Given the description of an element on the screen output the (x, y) to click on. 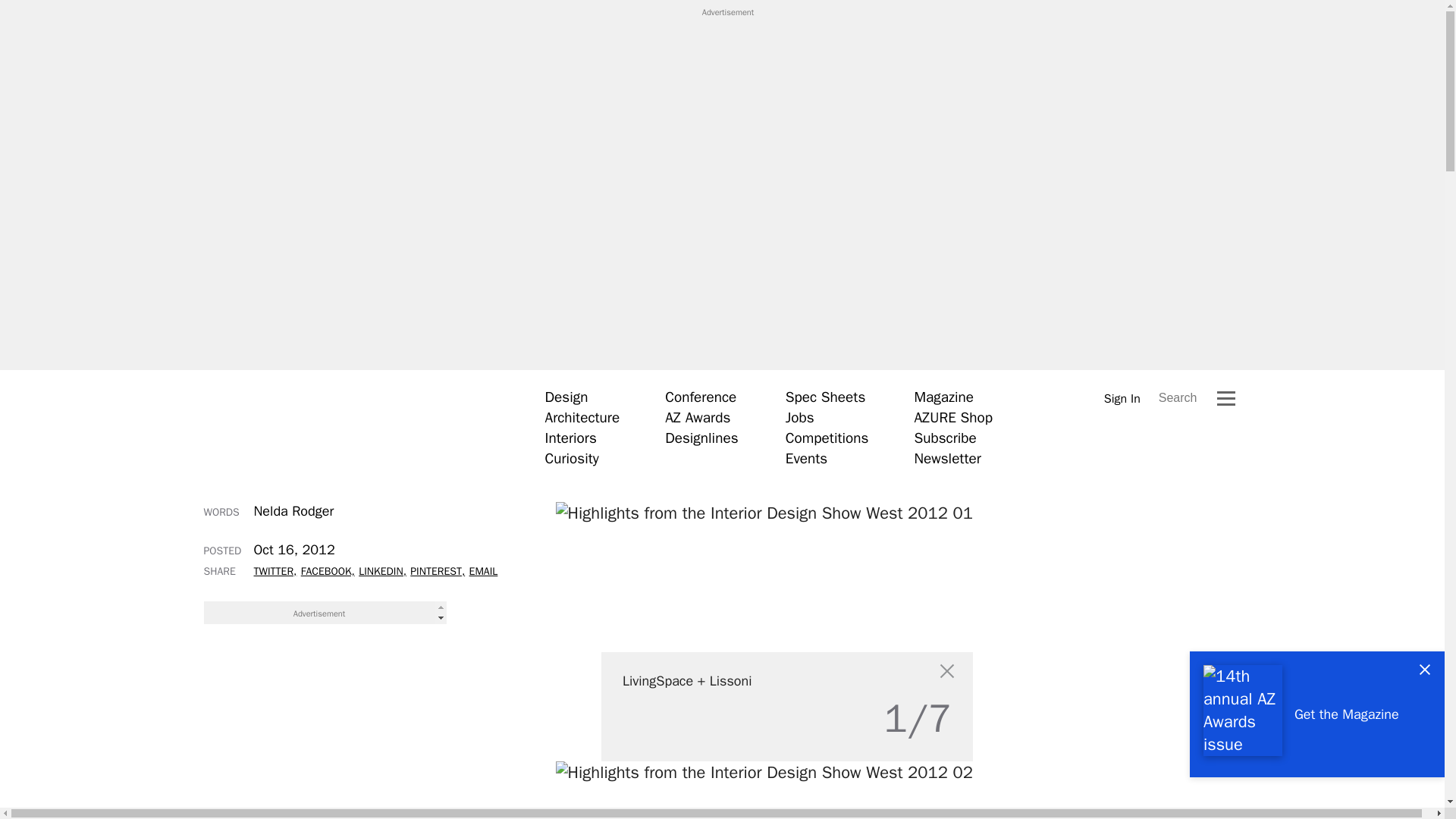
Competitions (827, 438)
Designlines (701, 438)
Design (566, 397)
AZURE Shop (953, 417)
AZ Awards (697, 417)
Interiors (569, 438)
Curiosity (571, 458)
Sign In (1122, 398)
Search (1178, 397)
Jobs (799, 417)
